Given the description of an element on the screen output the (x, y) to click on. 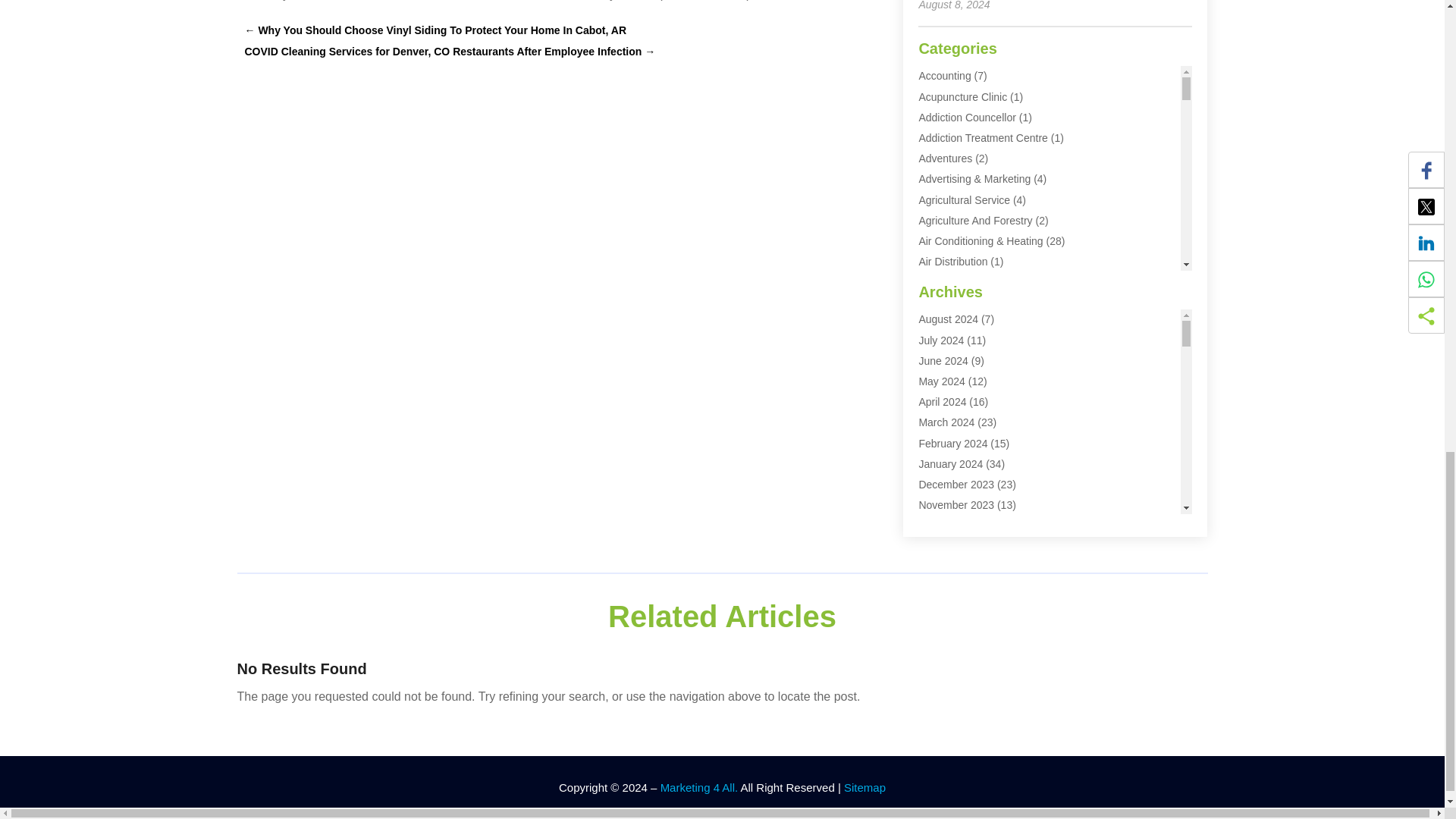
Air Quality Control (961, 282)
Air Distribution (952, 261)
Agricultural Service (964, 200)
Acupuncture Clinic (962, 96)
Aluminum Supplier (962, 302)
Adventures (945, 158)
Addiction Treatment Centre (982, 137)
Appliances (944, 344)
Animal Hospital (954, 323)
Addiction Councellor (966, 117)
